Given the description of an element on the screen output the (x, y) to click on. 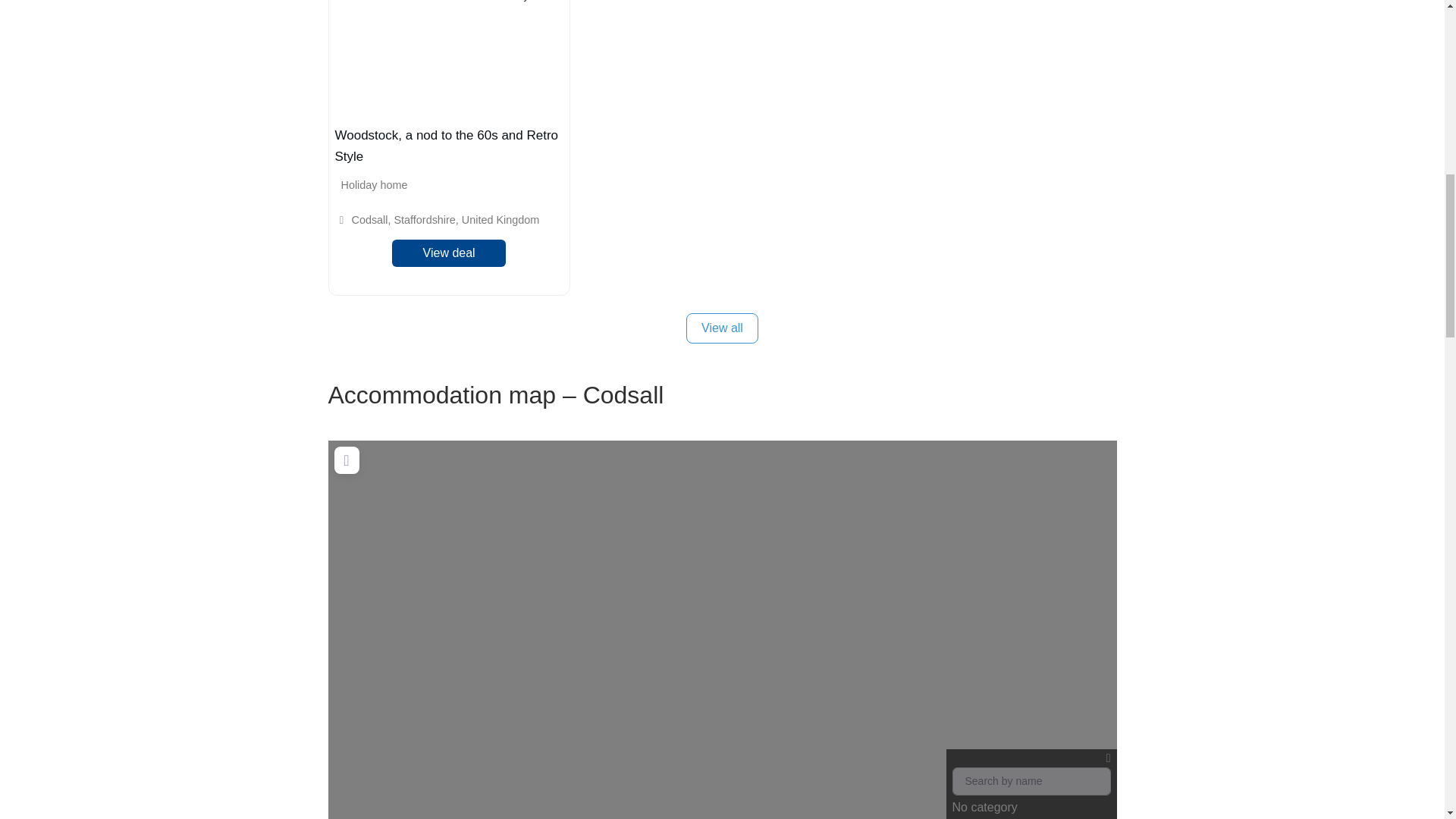
View: Woodstock, a nod to the 60s and Retro Style (446, 145)
Previous (347, 58)
View all (721, 327)
View deal (448, 252)
hit enter to search (1031, 781)
No category (1031, 784)
Next (550, 58)
Woodstock, a nod to the 60s and Retro Style (446, 145)
